Given the description of an element on the screen output the (x, y) to click on. 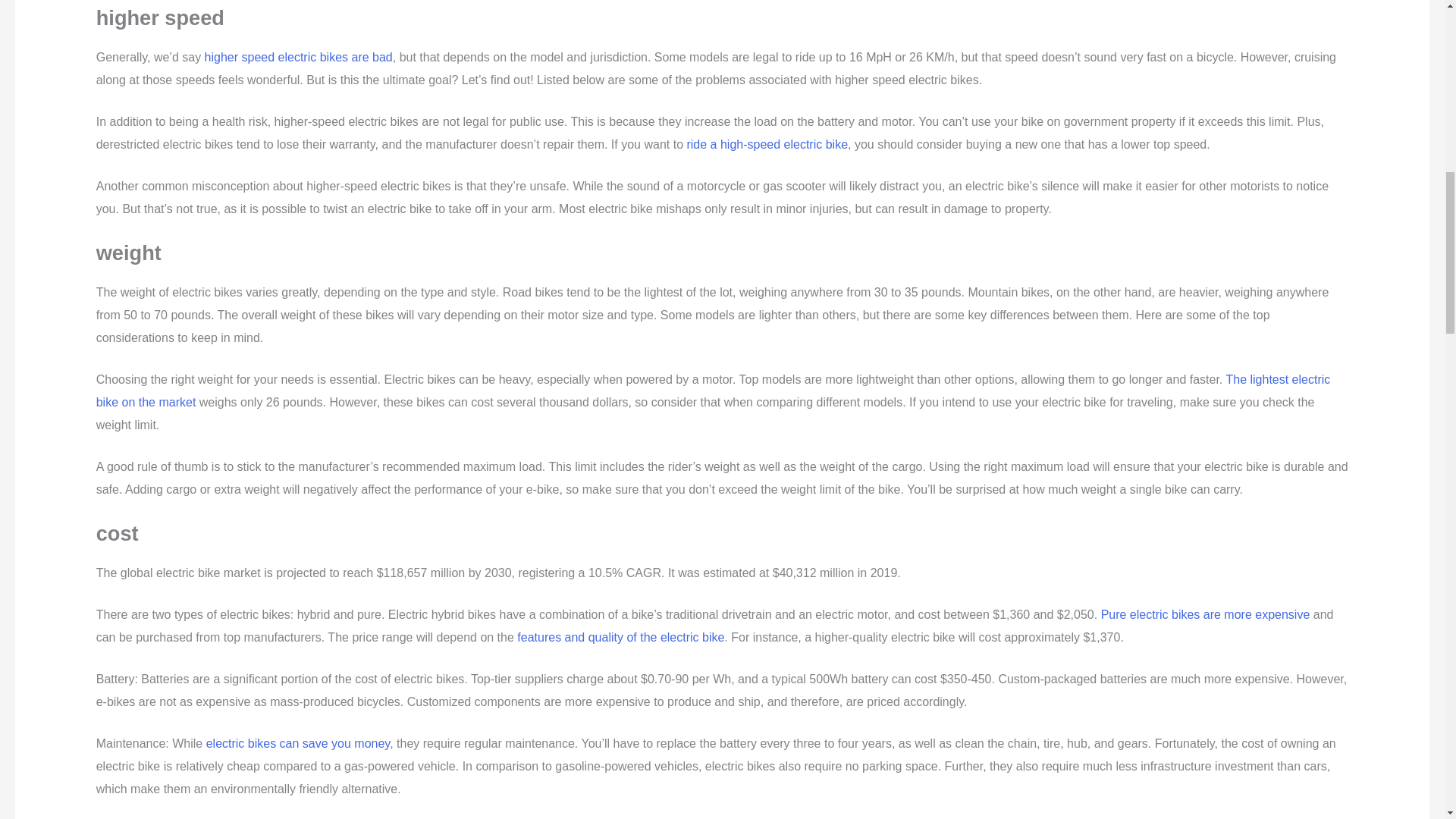
Pure electric bikes are more expensive (1205, 614)
The lightest electric bike on the market (713, 390)
higher speed electric bikes are bad (299, 56)
features and quality of the electric bike (619, 636)
electric bikes can save you money (298, 743)
ride a high-speed electric bike (766, 144)
